Given the description of an element on the screen output the (x, y) to click on. 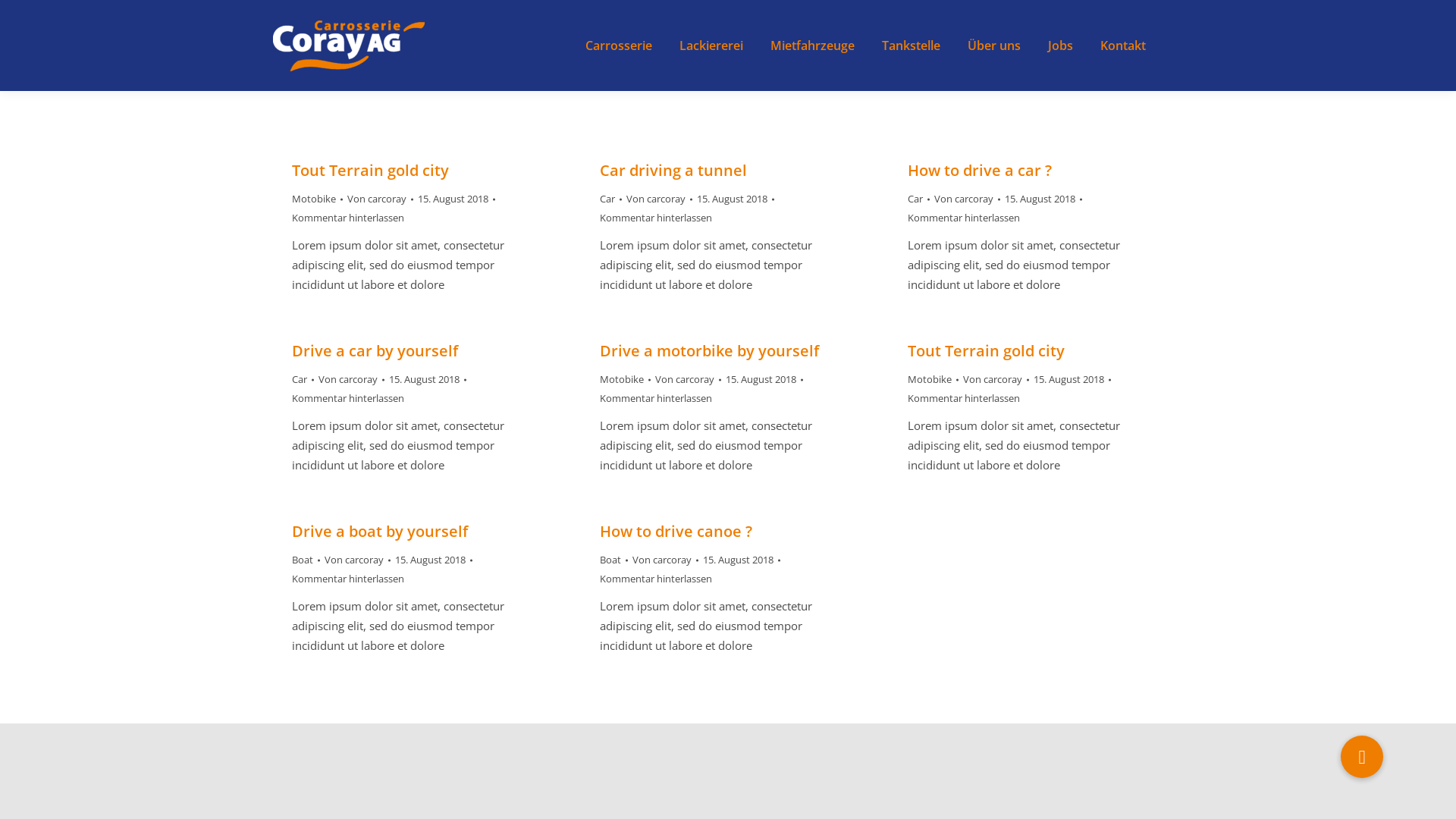
Car driving a tunnel Element type: text (672, 170)
Drive a motorbike by yourself Element type: text (709, 350)
Car Element type: text (914, 198)
15. August 2018 Element type: text (735, 198)
Mietfahrzeuge Element type: text (812, 45)
Carrosserie Element type: text (618, 45)
15. August 2018 Element type: text (741, 559)
15. August 2018 Element type: text (1043, 198)
Motobike Element type: text (929, 378)
Von carcoray Element type: text (967, 198)
Car Element type: text (607, 198)
Von carcoray Element type: text (659, 198)
Drive a boat by yourself Element type: text (379, 530)
Von carcoray Element type: text (380, 198)
Tankstelle Element type: text (910, 45)
15. August 2018 Element type: text (456, 198)
Jobs Element type: text (1060, 45)
How to drive a car ? Element type: text (979, 170)
How to drive canoe ? Element type: text (675, 530)
Von carcoray Element type: text (357, 559)
15. August 2018 Element type: text (427, 379)
Lackiererei Element type: text (711, 45)
Boat Element type: text (610, 559)
Von carcoray Element type: text (665, 559)
Motobike Element type: text (313, 198)
Von carcoray Element type: text (688, 379)
Kommentar hinterlassen Element type: text (347, 217)
15. August 2018 Element type: text (1071, 379)
Von carcoray Element type: text (996, 379)
Kommentar hinterlassen Element type: text (655, 398)
Boat Element type: text (302, 559)
Motobike Element type: text (621, 378)
Kommentar hinterlassen Element type: text (963, 217)
15. August 2018 Element type: text (433, 559)
Kommentar hinterlassen Element type: text (347, 398)
15. August 2018 Element type: text (764, 379)
Kommentar hinterlassen Element type: text (963, 398)
Kommentar hinterlassen Element type: text (655, 217)
Car Element type: text (299, 378)
Kontakt Element type: text (1122, 45)
Tout Terrain gold city Element type: text (369, 170)
Kommentar hinterlassen Element type: text (655, 578)
Von carcoray Element type: text (351, 379)
Drive a car by yourself Element type: text (374, 350)
Kommentar hinterlassen Element type: text (347, 578)
Tout Terrain gold city Element type: text (985, 350)
